Given the description of an element on the screen output the (x, y) to click on. 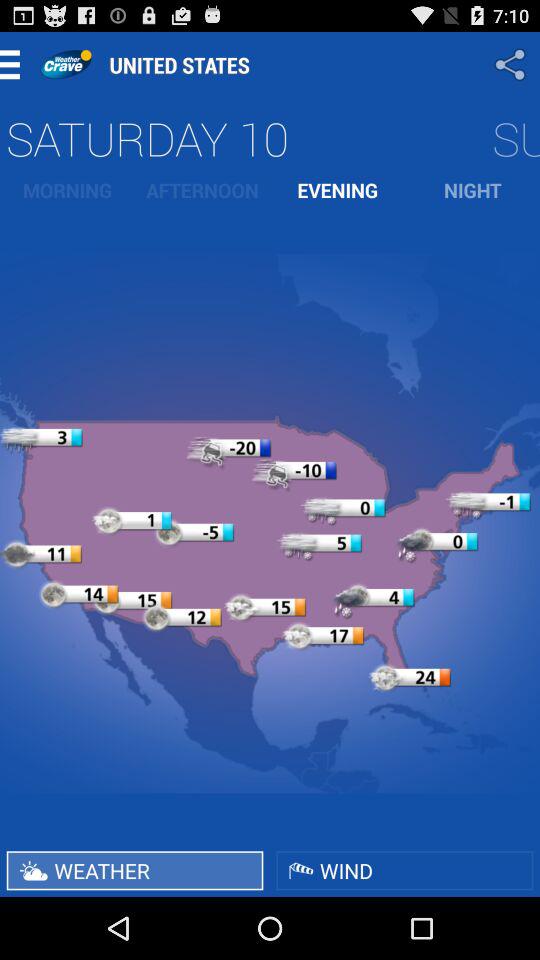
click app to the right of the united states app (512, 64)
